Given the description of an element on the screen output the (x, y) to click on. 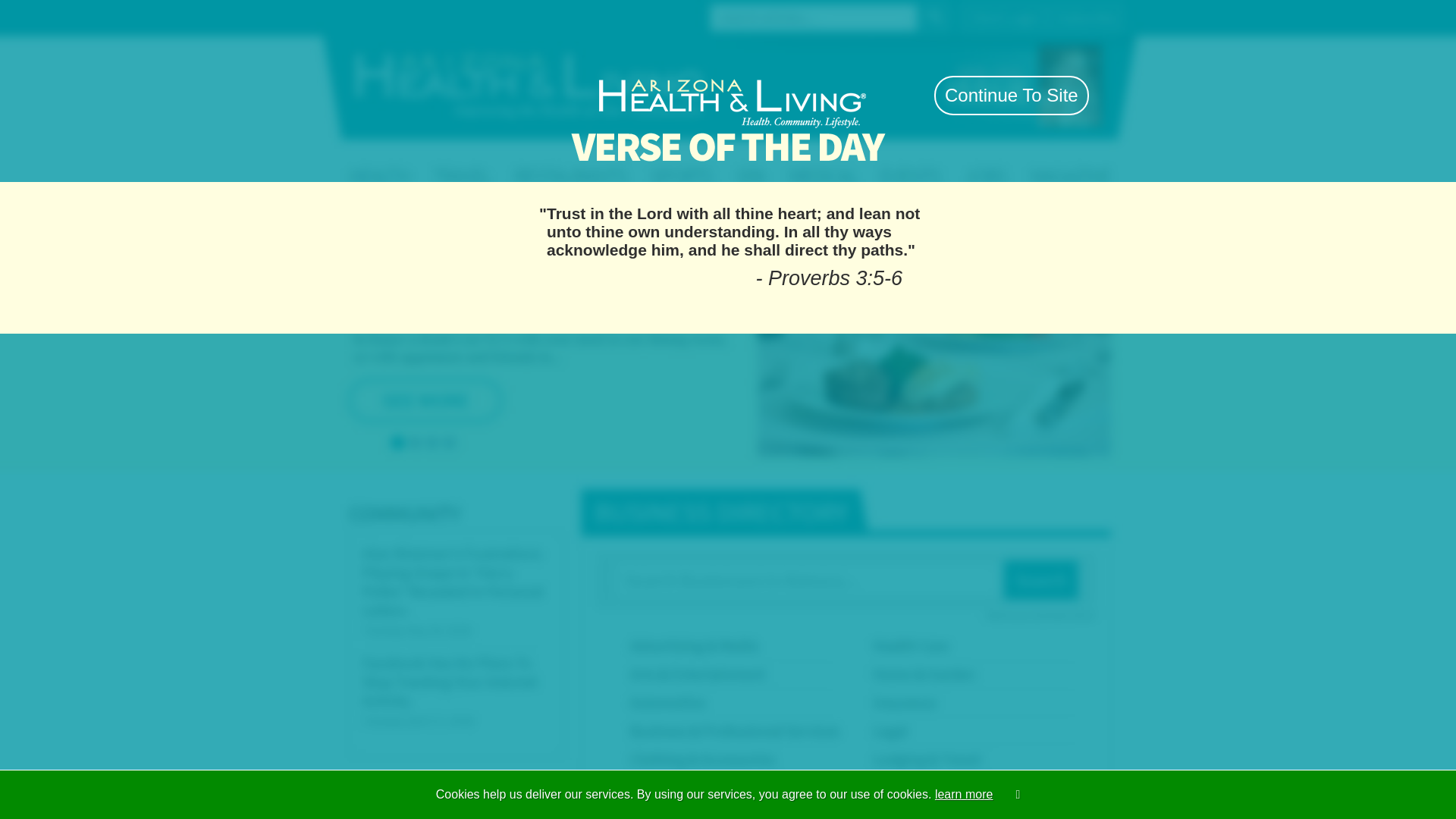
BLOG (1101, 160)
advertise (927, 93)
Sign In (1047, 16)
SHOP (872, 160)
view issue (975, 93)
HEALTH (424, 160)
Journey Beyond A Holistic Center (487, 521)
List, Post and Share (727, 128)
Join Community (965, 16)
EVENTS (986, 160)
